Given the description of an element on the screen output the (x, y) to click on. 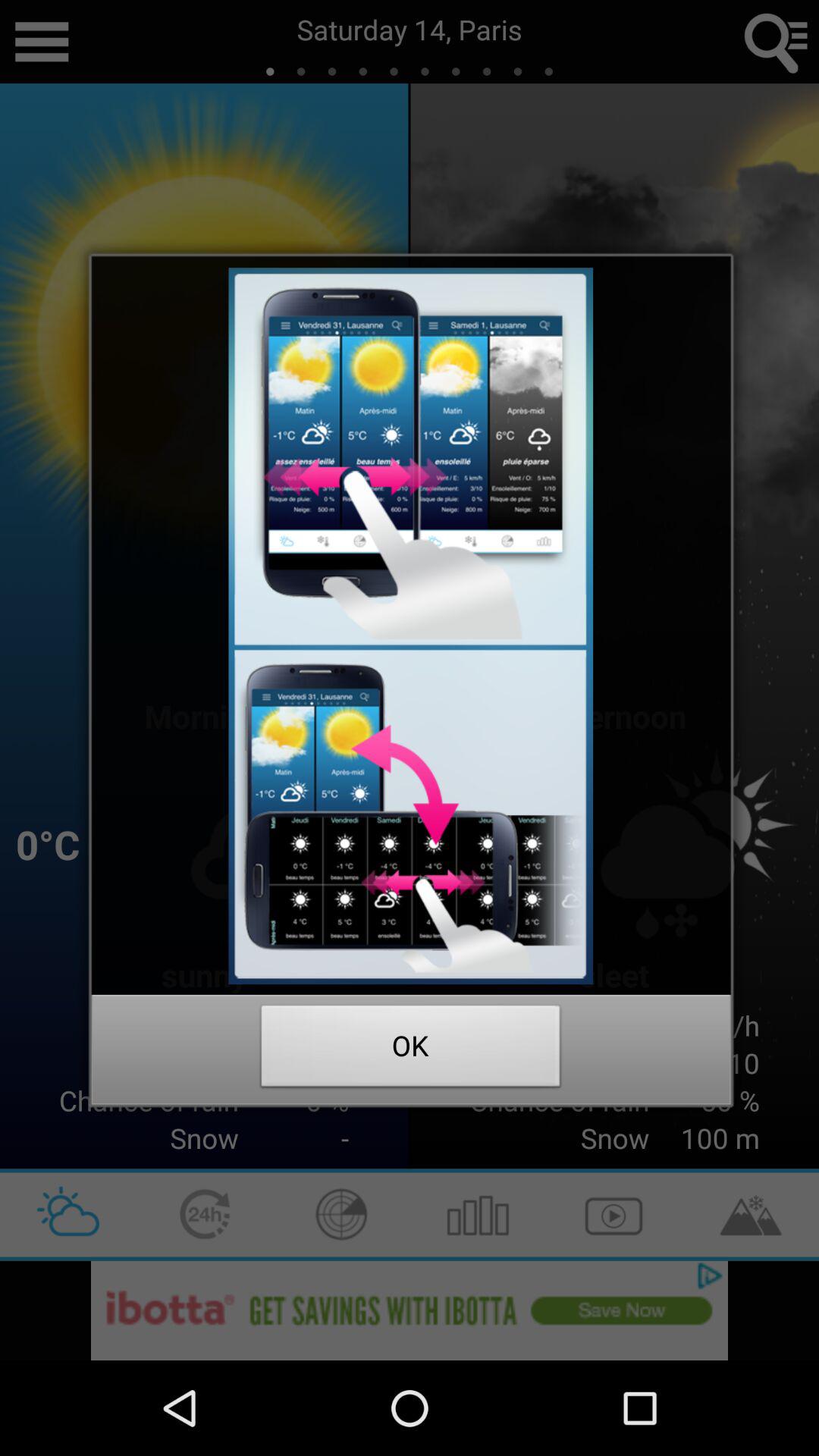
turn off icon at the bottom (410, 1050)
